Given the description of an element on the screen output the (x, y) to click on. 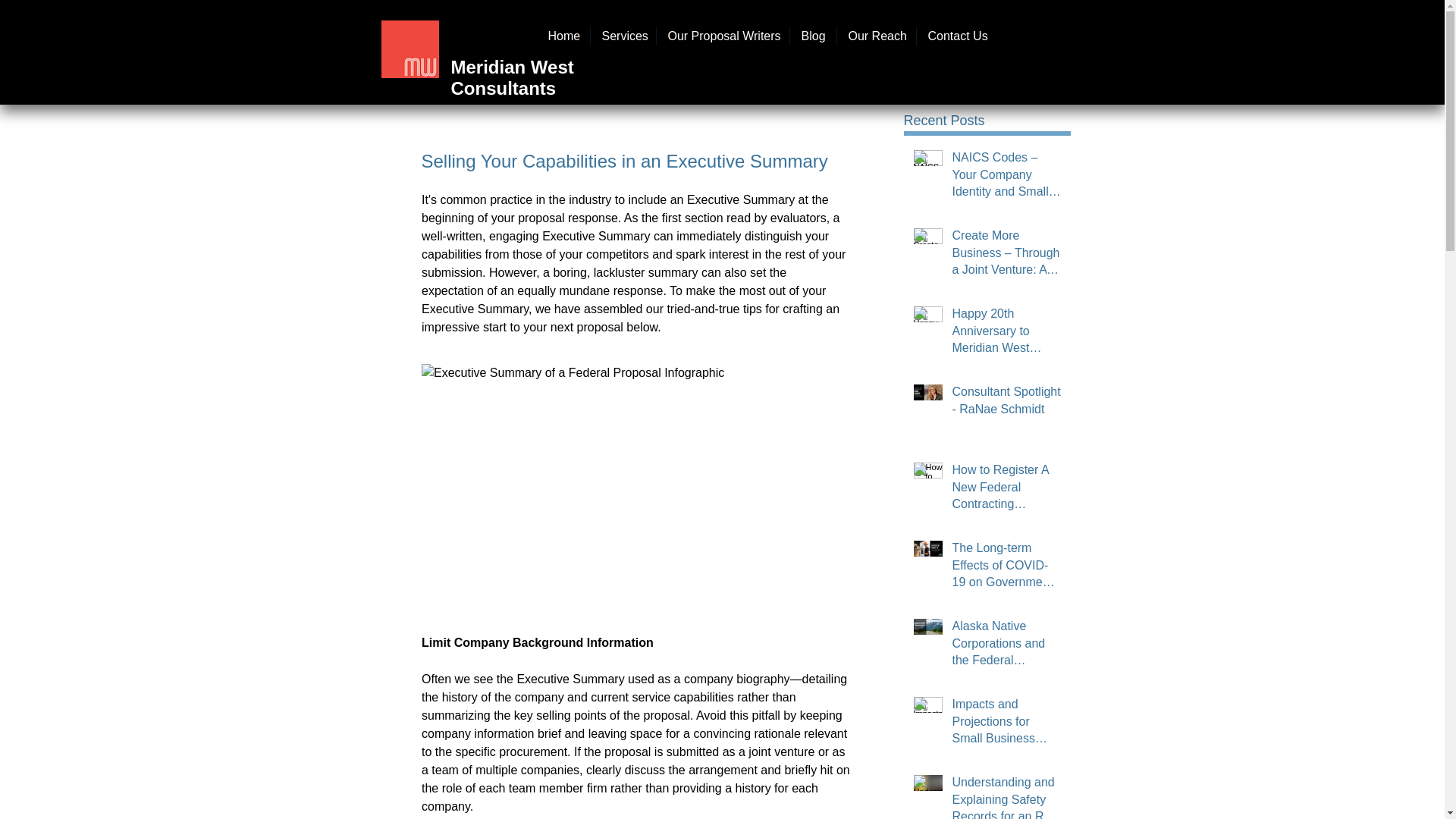
Home (563, 36)
Consultant Spotlight - RaNae Schmidt (1006, 404)
Happy 20th Anniversary to Meridian West Consultants, LLC! (1006, 333)
Services (622, 36)
Meridian West Consultants (511, 77)
Contact Us (955, 36)
Blog (812, 36)
The Long-term Effects of COVID-19 on Government Contractors (1006, 568)
Our Proposal Writers (722, 36)
